Given the description of an element on the screen output the (x, y) to click on. 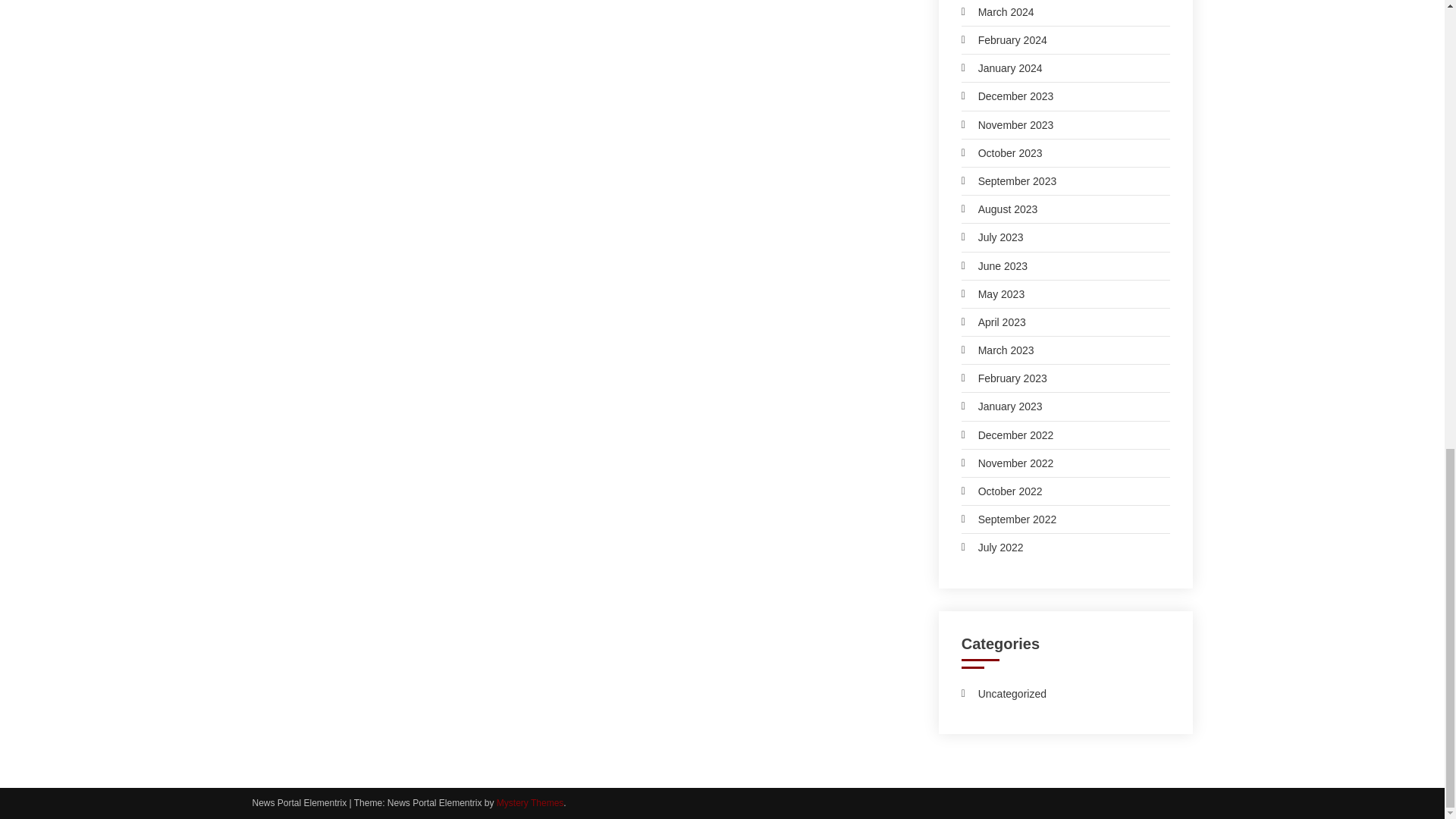
January 2024 (1001, 67)
March 2024 (996, 12)
February 2024 (1003, 39)
